Given the description of an element on the screen output the (x, y) to click on. 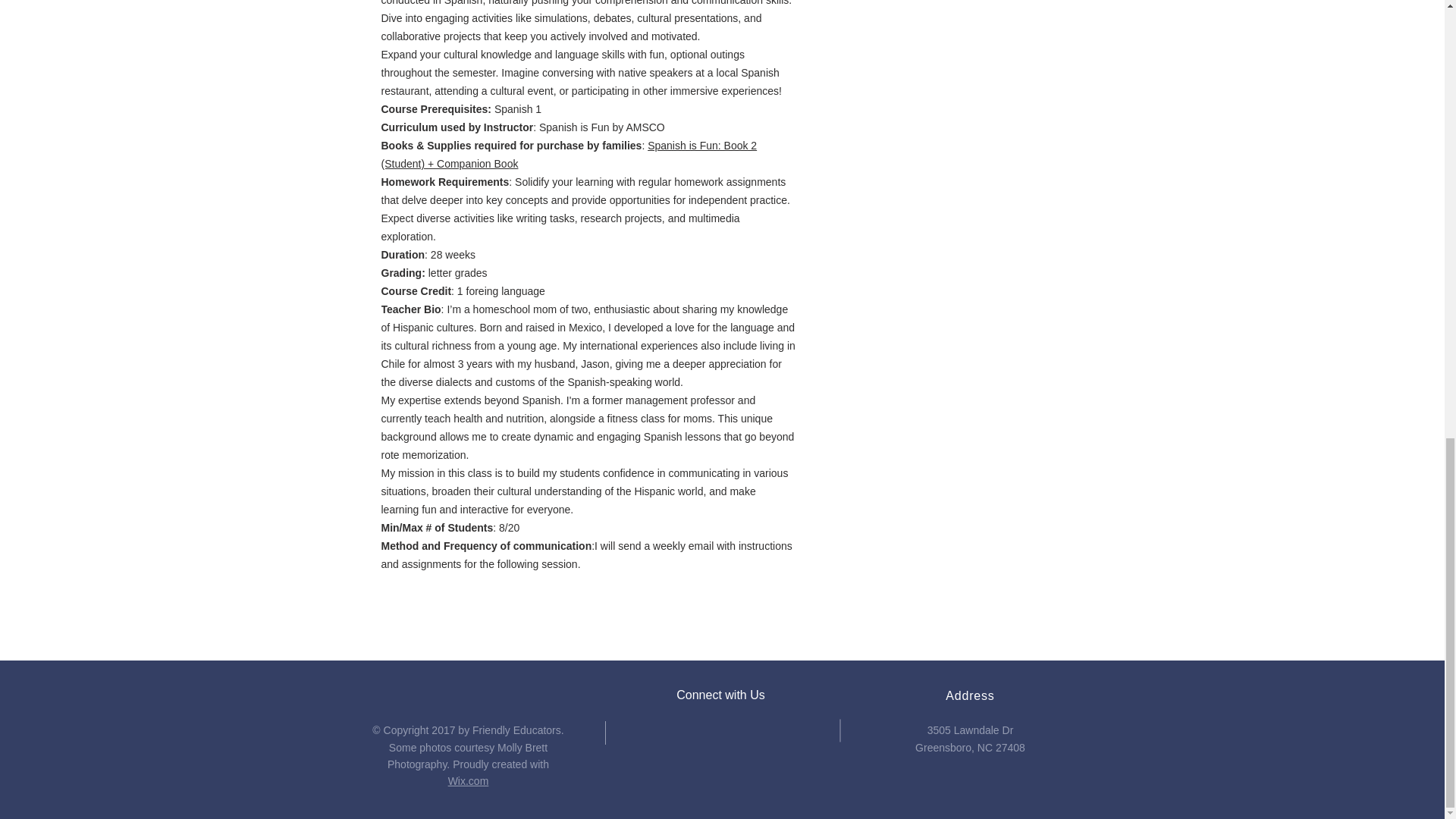
Connect with Us (721, 694)
Wix.com (468, 780)
